Given the description of an element on the screen output the (x, y) to click on. 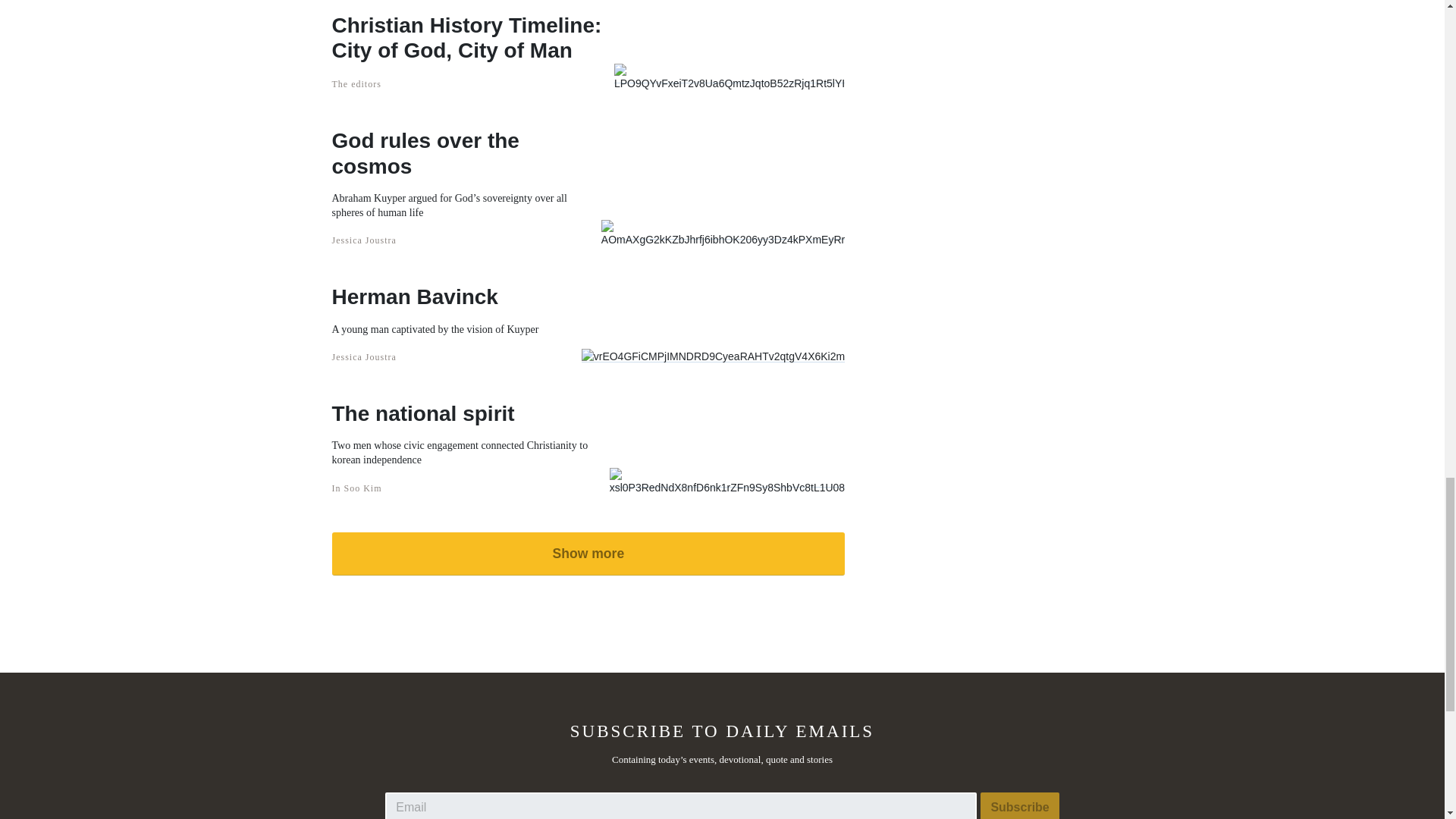
God rules over the cosmos (466, 153)
Christian History Timeline: City of God, City of Man (472, 38)
Show more (588, 553)
The national spirit (470, 413)
Herman Bavinck (434, 297)
Subscribe (1018, 805)
